Given the description of an element on the screen output the (x, y) to click on. 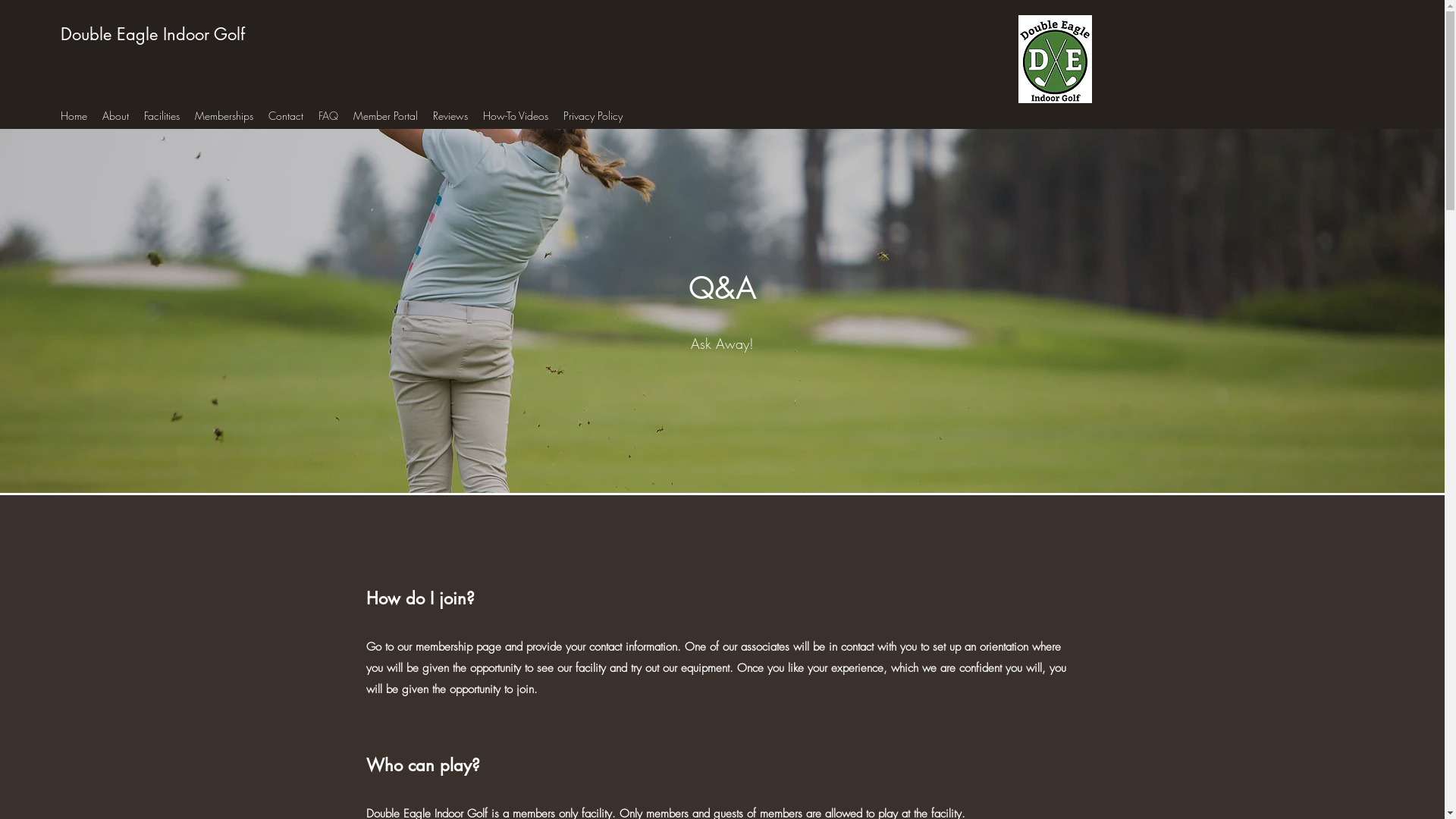
Double Eagle logo (1).jpg Element type: hover (1054, 59)
How-To Videos Element type: text (515, 115)
FAQ Element type: text (327, 115)
Home Element type: text (73, 115)
Memberships Element type: text (223, 115)
Double Eagle Indoor Golf Element type: text (152, 33)
Privacy Policy Element type: text (592, 115)
Contact Element type: text (285, 115)
Member Portal Element type: text (385, 115)
Reviews Element type: text (450, 115)
About Element type: text (115, 115)
Facilities Element type: text (161, 115)
